Given the description of an element on the screen output the (x, y) to click on. 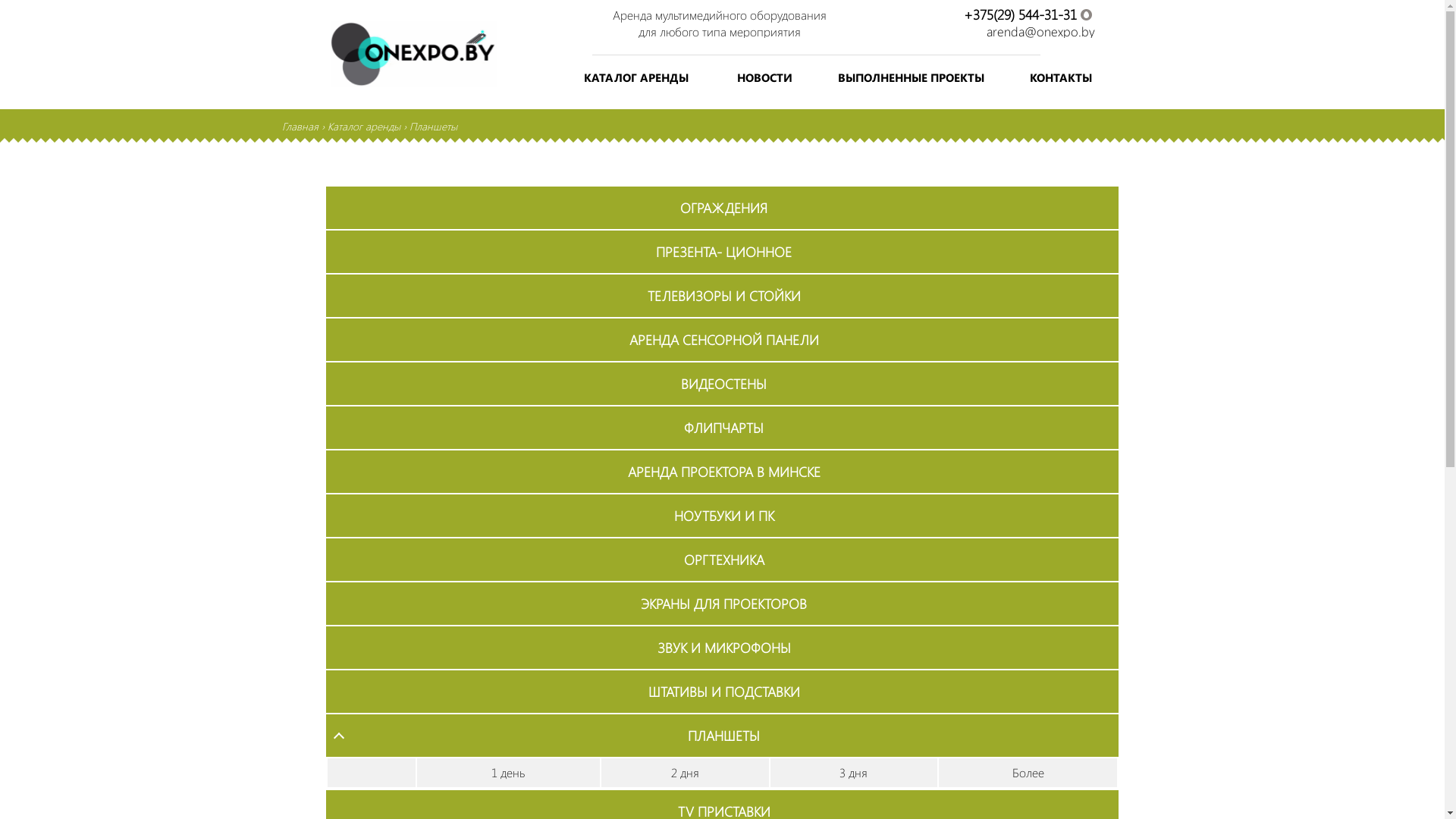
arenda@onexpo.by Element type: text (1040, 31)
+375(29) 544-31-31 Element type: text (1019, 14)
